Given the description of an element on the screen output the (x, y) to click on. 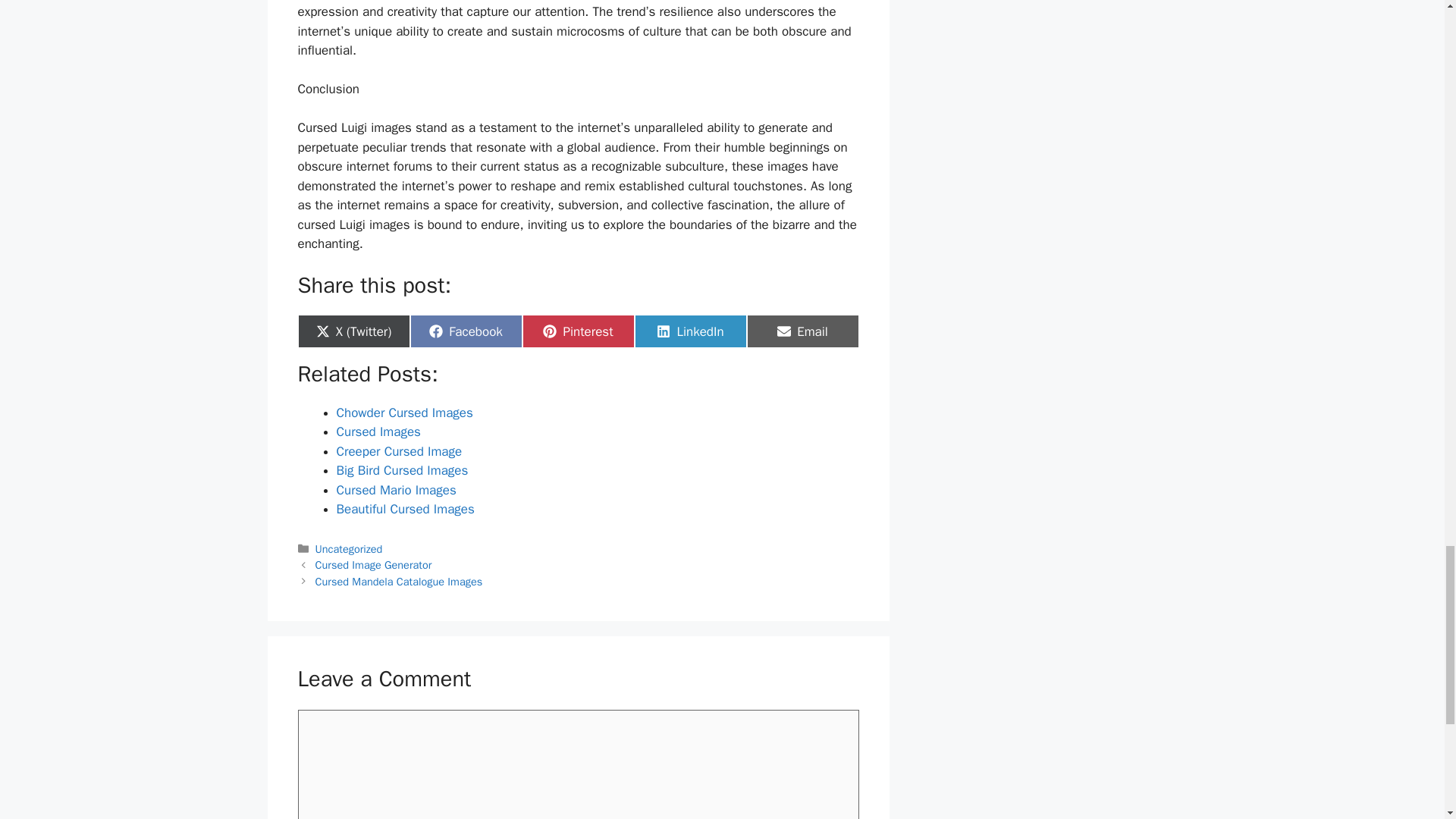
Beautiful Cursed Images (405, 508)
Creeper Cursed Image (399, 451)
Cursed Mario Images (396, 489)
Cursed Mandela Catalogue Images (399, 581)
Chowder Cursed Images (689, 331)
Uncategorized (404, 412)
Cursed Image Generator (348, 549)
Big Bird Cursed Images (577, 331)
Cursed Images (373, 564)
